Given the description of an element on the screen output the (x, y) to click on. 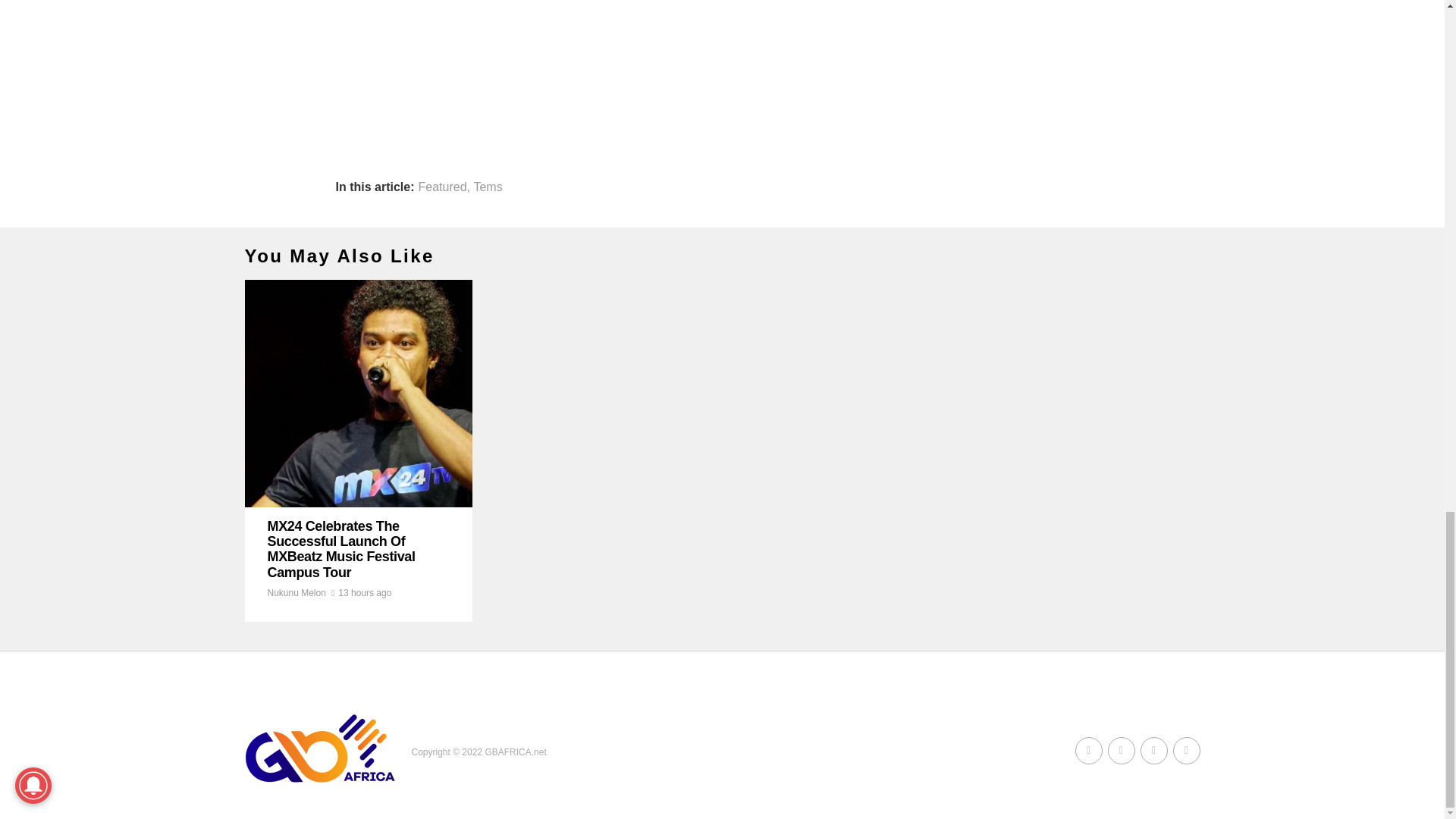
Posts by Nukunu Melon (295, 593)
